Given the description of an element on the screen output the (x, y) to click on. 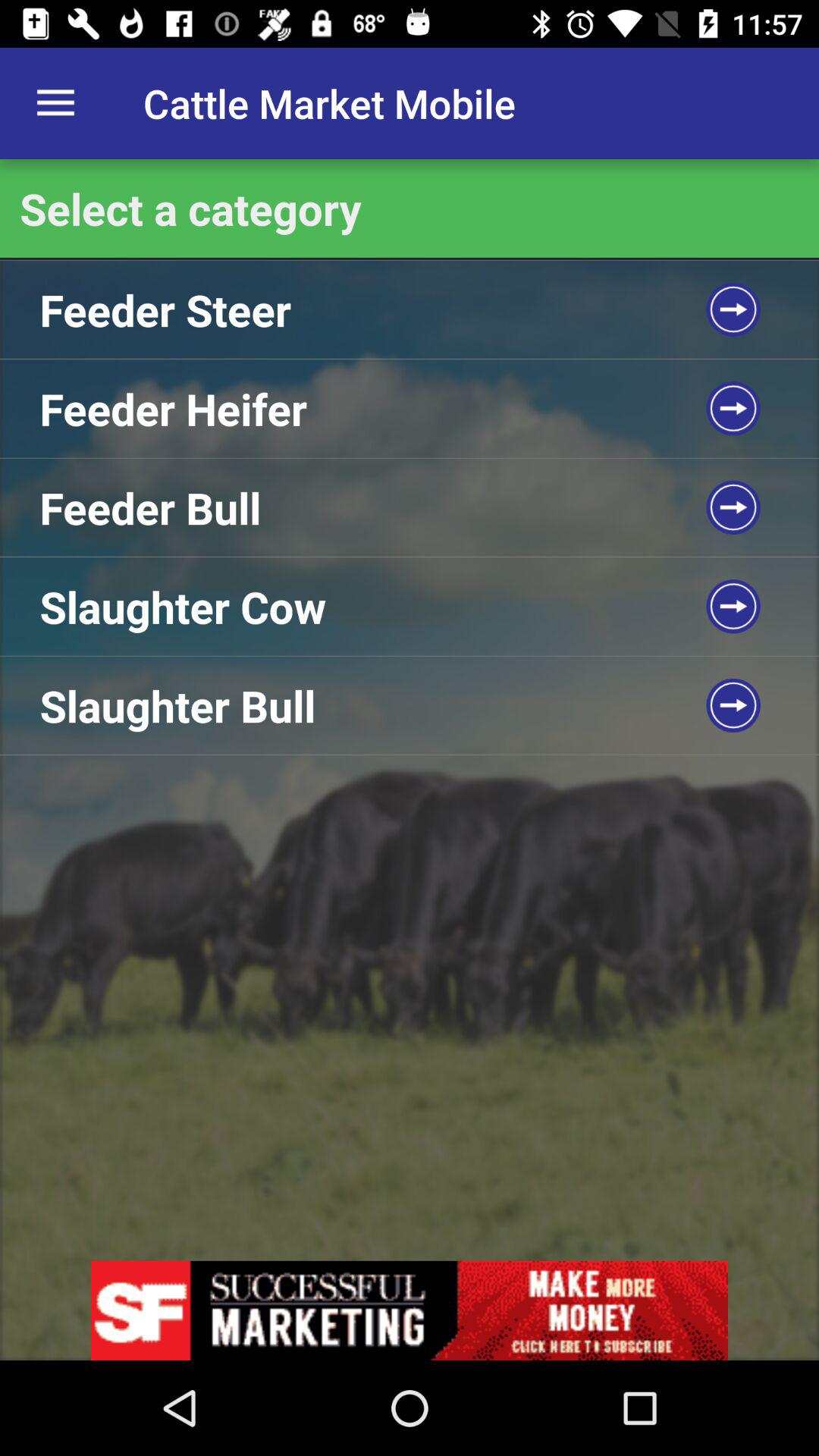
advisement (409, 1310)
